Given the description of an element on the screen output the (x, y) to click on. 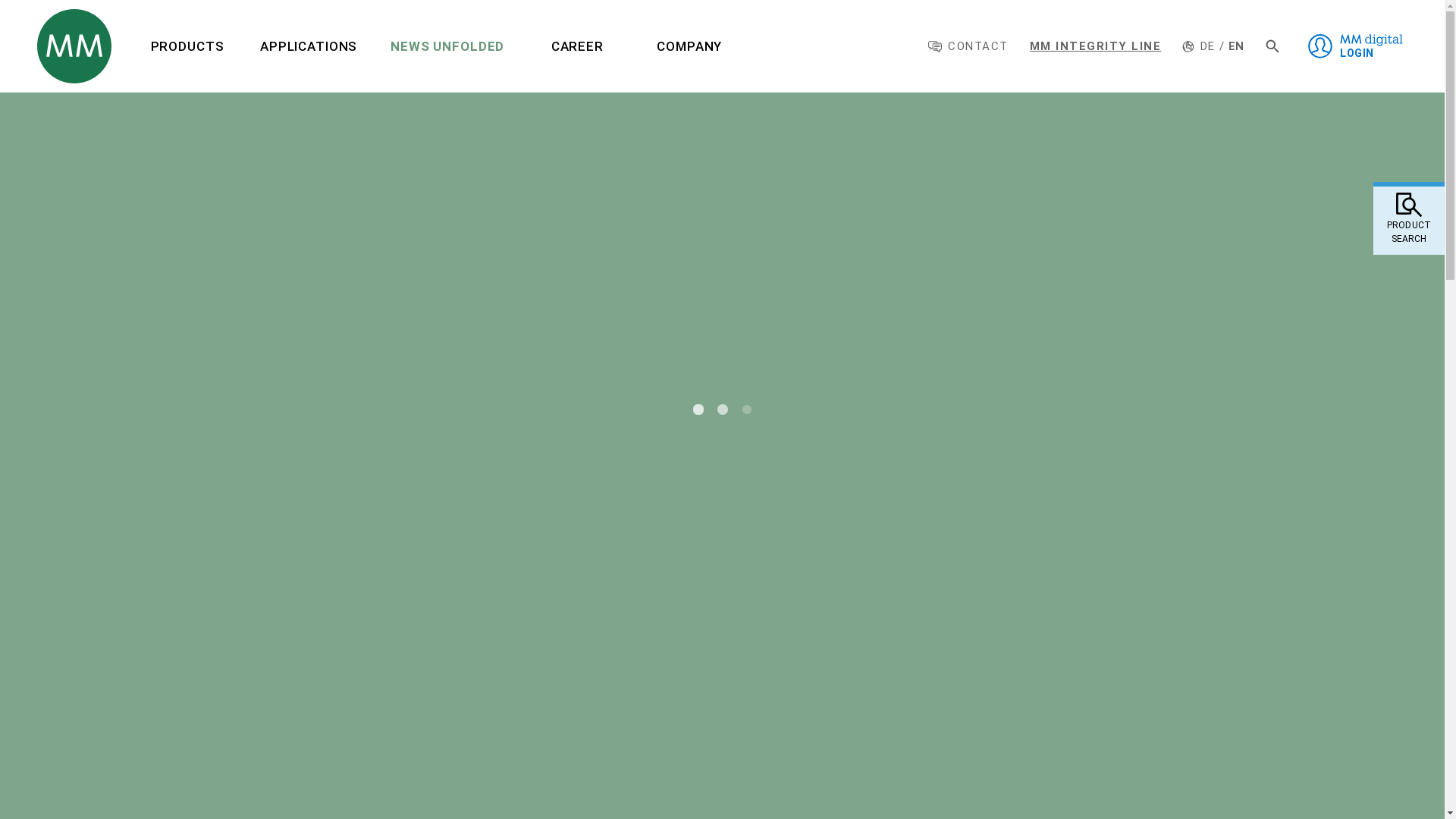
CAREER (576, 46)
LOGIN (1354, 45)
PRODUCTS (186, 46)
MM INTEGRITY LINE (1095, 46)
COMPANY (689, 46)
APPLICATIONS (308, 46)
CONTACT (968, 46)
NEWS UNFOLDED (447, 46)
